Given the description of an element on the screen output the (x, y) to click on. 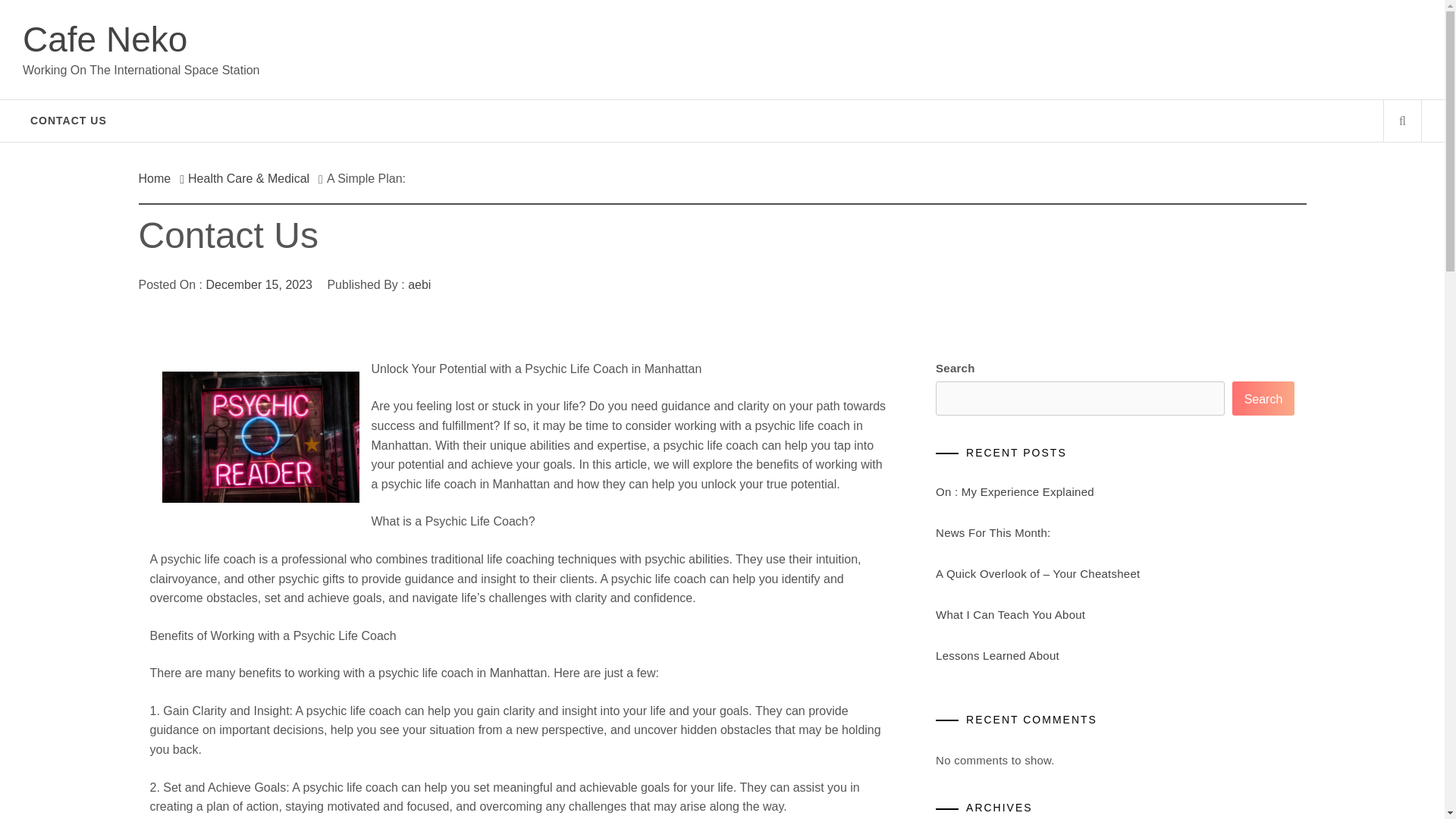
What I Can Teach You About (1010, 614)
On : My Experience Explained (1015, 491)
aebi (418, 284)
CONTACT US (69, 120)
Lessons Learned About (997, 655)
Search (797, 37)
December 15, 2023 (259, 284)
Search (1263, 398)
Cafe Neko (105, 38)
Home (158, 178)
